Given the description of an element on the screen output the (x, y) to click on. 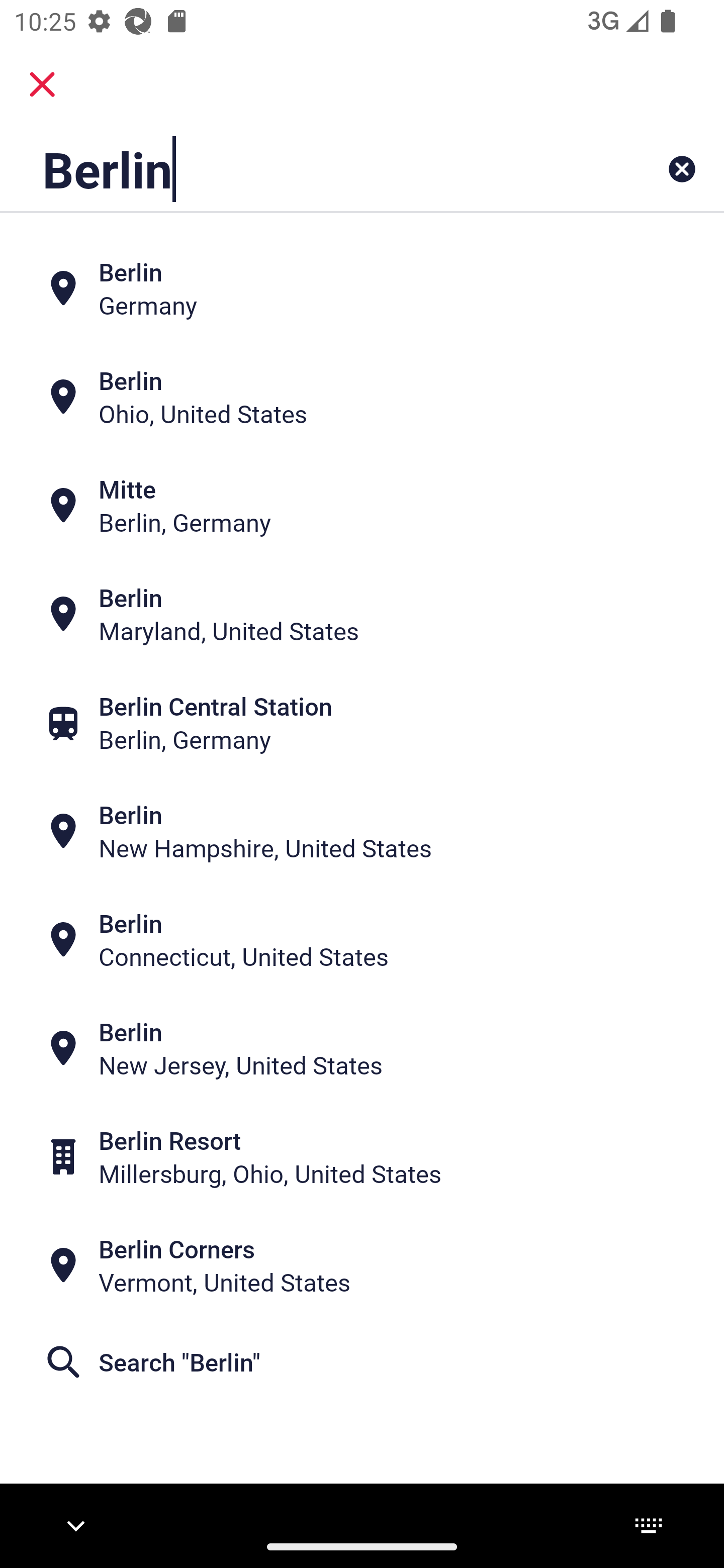
close. (42, 84)
Clear (681, 169)
Berlin (298, 169)
Berlin Germany (362, 288)
Berlin Ohio, United States (362, 397)
Mitte Berlin, Germany (362, 505)
Berlin Maryland, United States (362, 613)
Berlin Central Station Berlin, Germany (362, 722)
Berlin New Hampshire, United States (362, 831)
Berlin Connecticut, United States (362, 939)
Berlin New Jersey, United States (362, 1048)
Berlin Resort Millersburg, Ohio, United States (362, 1156)
Berlin Corners Vermont, United States (362, 1265)
Search "Berlin" (361, 1362)
